Given the description of an element on the screen output the (x, y) to click on. 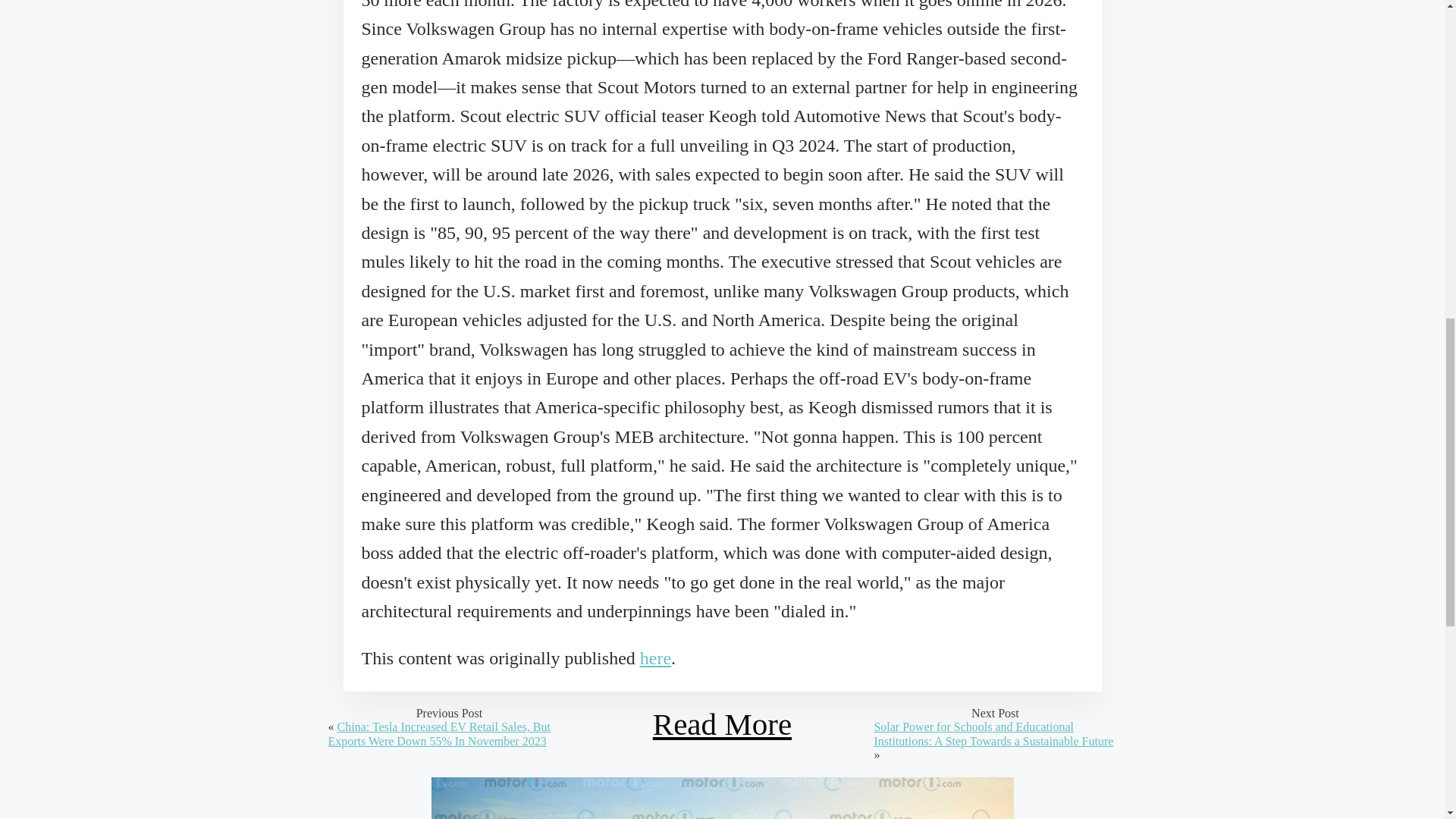
Read More (722, 724)
here (655, 658)
